Given the description of an element on the screen output the (x, y) to click on. 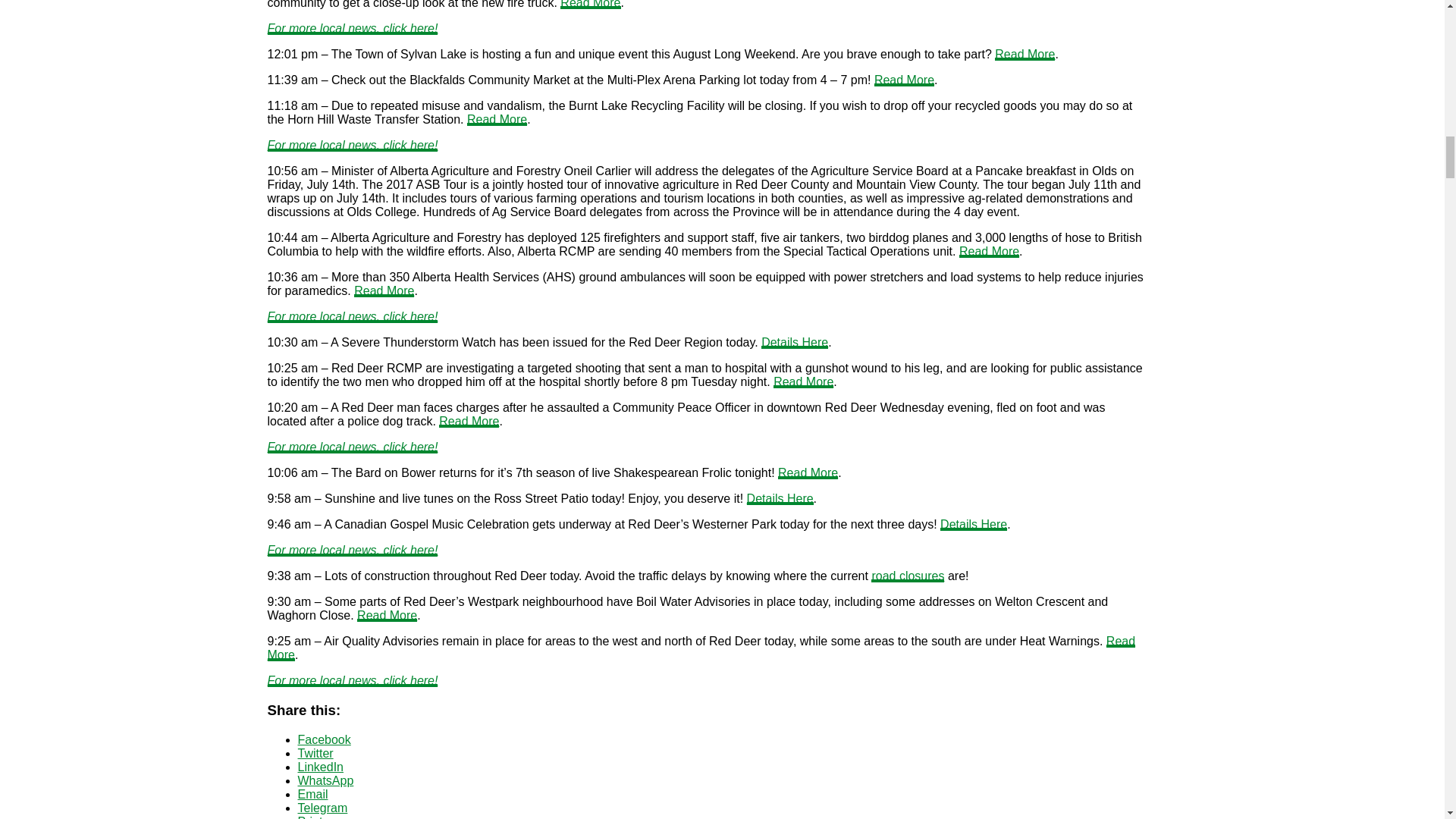
Click to print (309, 816)
Click to share on LinkedIn (320, 766)
Click to share on Telegram (322, 807)
Click to share on WhatsApp (325, 779)
Click to email this to a friend (312, 793)
Click to share on Twitter (315, 752)
Click to share on Facebook (323, 738)
